Given the description of an element on the screen output the (x, y) to click on. 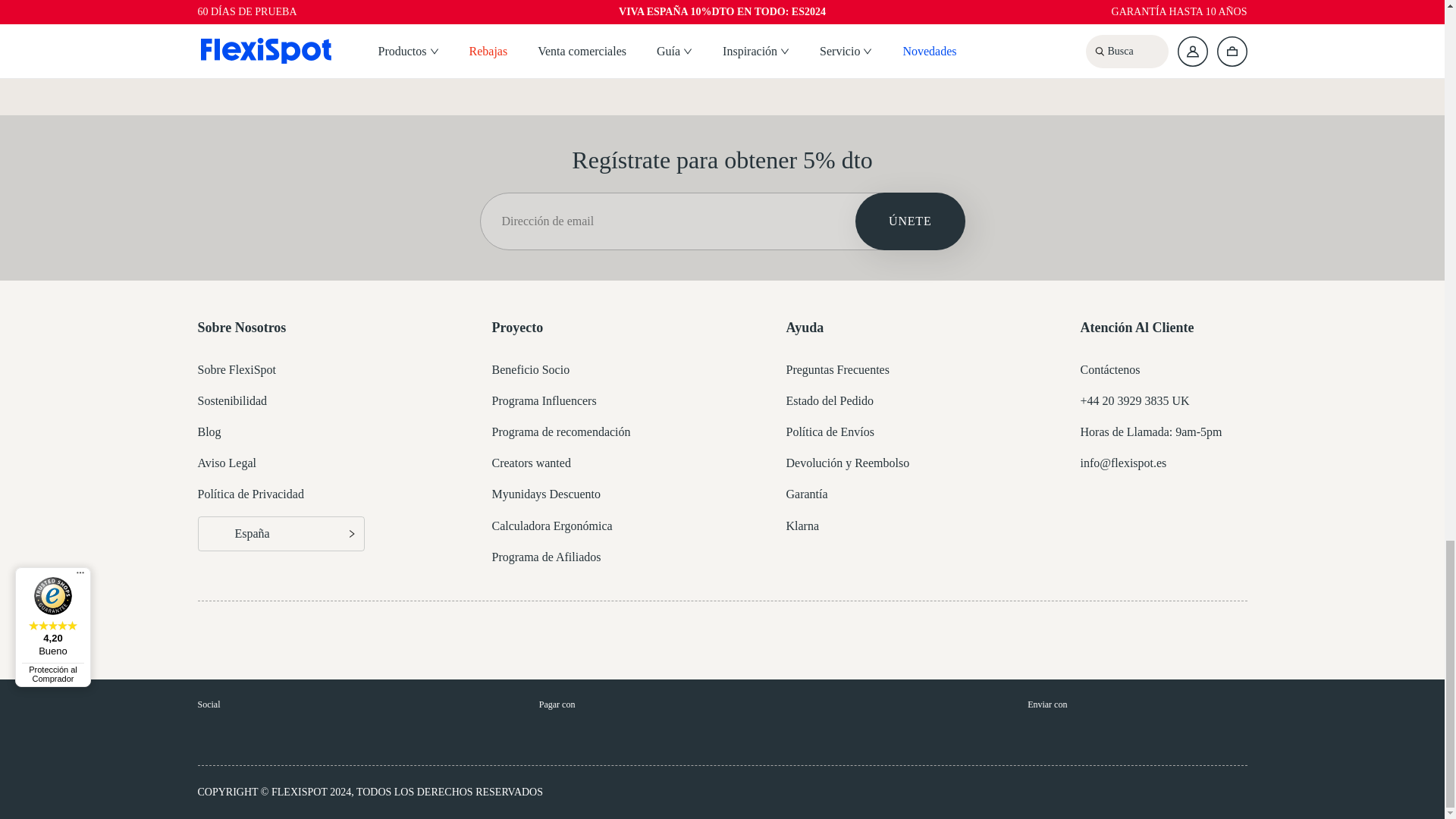
Aviso Legal (226, 462)
Sobre FlexiSpot (236, 369)
Blog (208, 431)
Beneficio Socio (530, 369)
Programa Influencers (543, 400)
Sostenibilidad (231, 400)
